Given the description of an element on the screen output the (x, y) to click on. 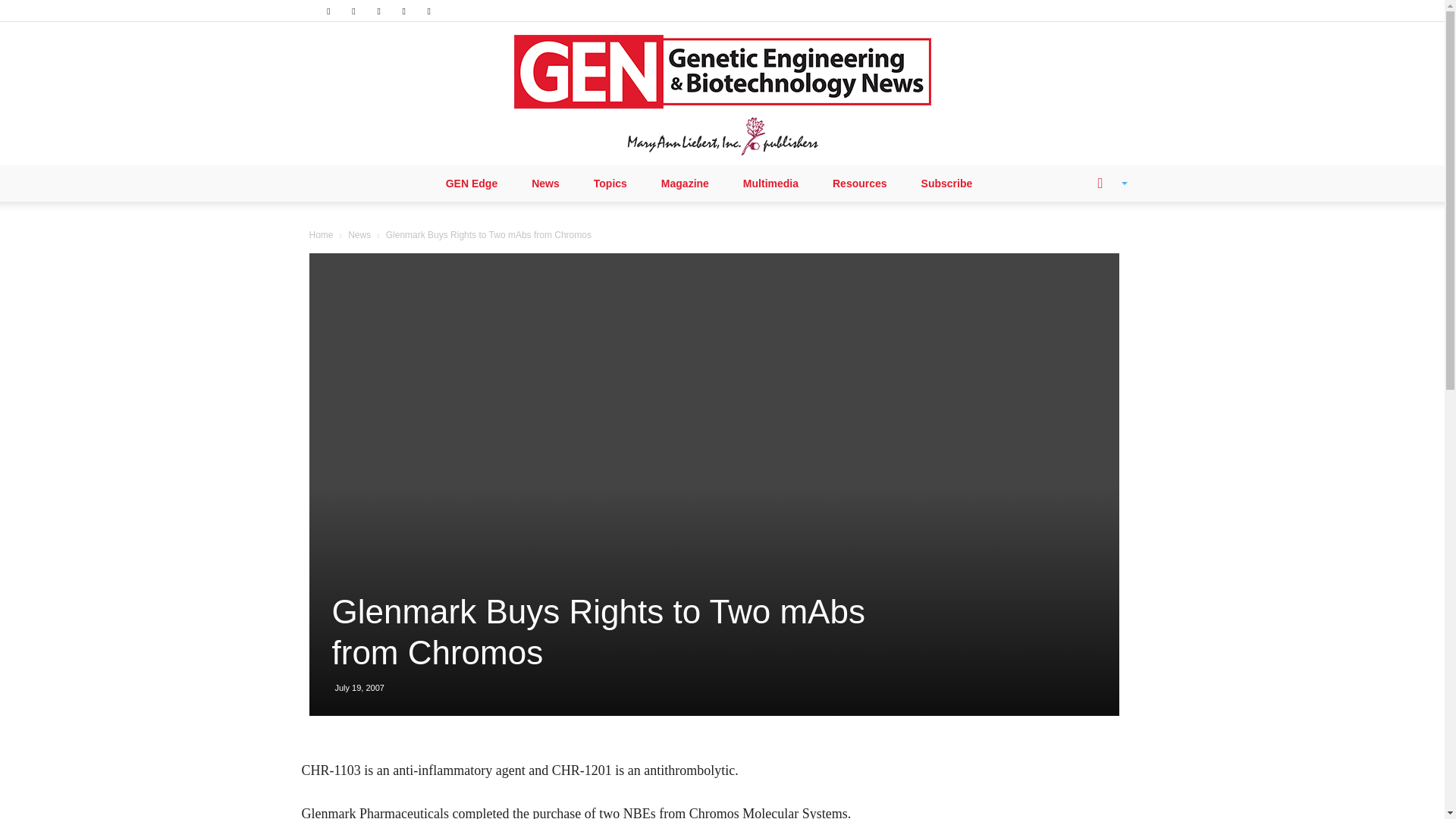
Facebook (328, 10)
View all posts in News (359, 235)
Youtube (429, 10)
Twitter (403, 10)
Linkedin (353, 10)
RSS (379, 10)
